Given the description of an element on the screen output the (x, y) to click on. 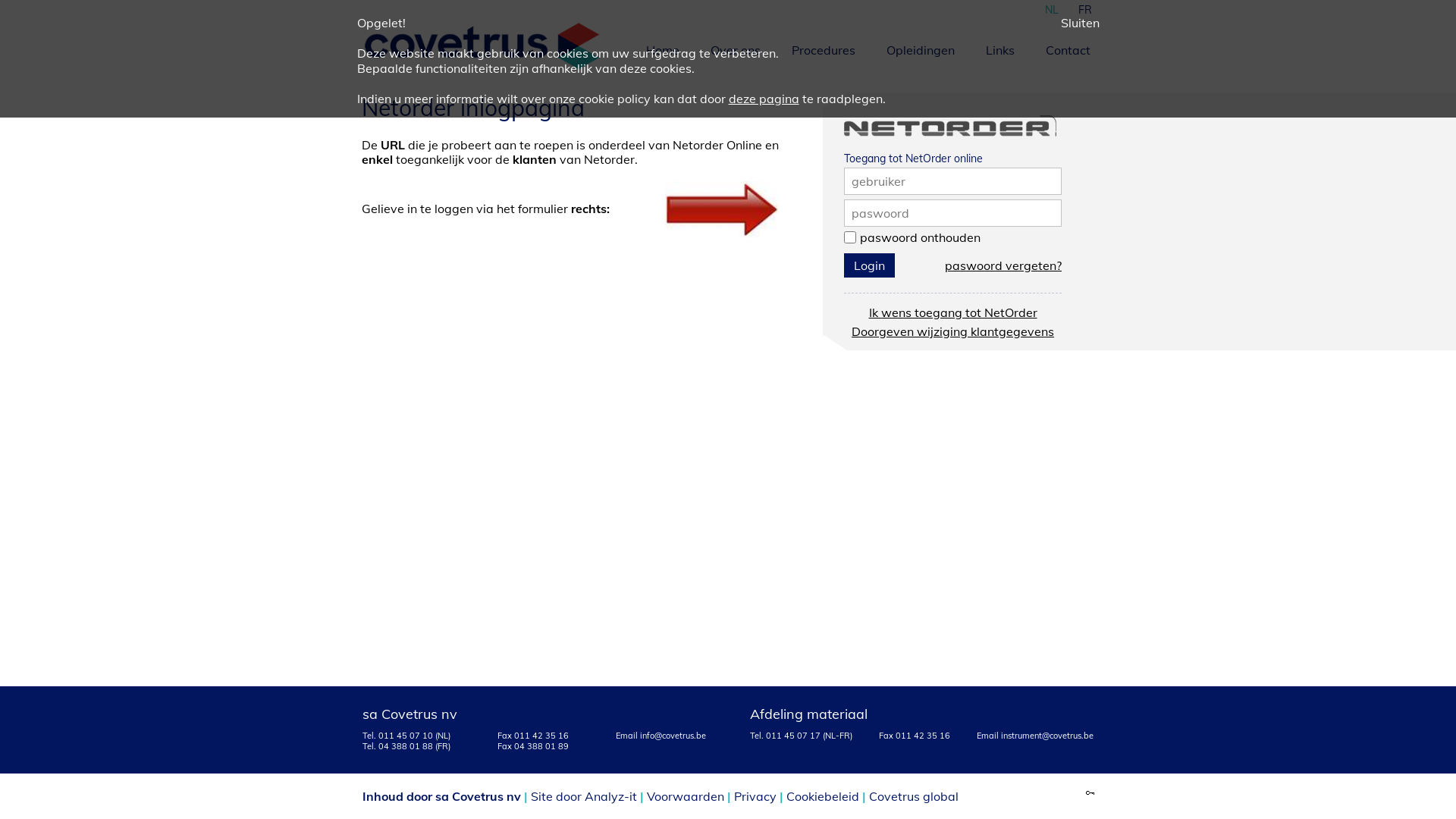
Site door Analyz-it Element type: text (583, 795)
Login Element type: text (869, 265)
Sluiten Element type: text (1079, 22)
paswoord Element type: text (880, 212)
FR Element type: text (1084, 7)
gebruiker Element type: text (878, 180)
Cookiebeleid Element type: text (821, 795)
NL Element type: text (1050, 7)
Covetrus global Element type: text (913, 795)
Doorgeven wijziging klantgegevens Element type: text (952, 330)
Privacy Element type: text (755, 795)
paswoord vergeten? Element type: text (1002, 265)
deze pagina Element type: text (763, 98)
Contact Element type: text (1066, 47)
Home Element type: text (660, 47)
Covetrus Element type: hover (482, 45)
instrument@covetrus.be Element type: text (1047, 735)
Inhoud door sa Covetrus nv Element type: text (441, 795)
Over ons Element type: text (733, 47)
info@covetrus.be Element type: text (673, 735)
Ik wens toegang tot NetOrder Element type: text (953, 312)
Opleidingen Element type: text (918, 47)
Voorwaarden Element type: text (684, 795)
Procedures Element type: text (821, 47)
Links Element type: text (997, 47)
